Given the description of an element on the screen output the (x, y) to click on. 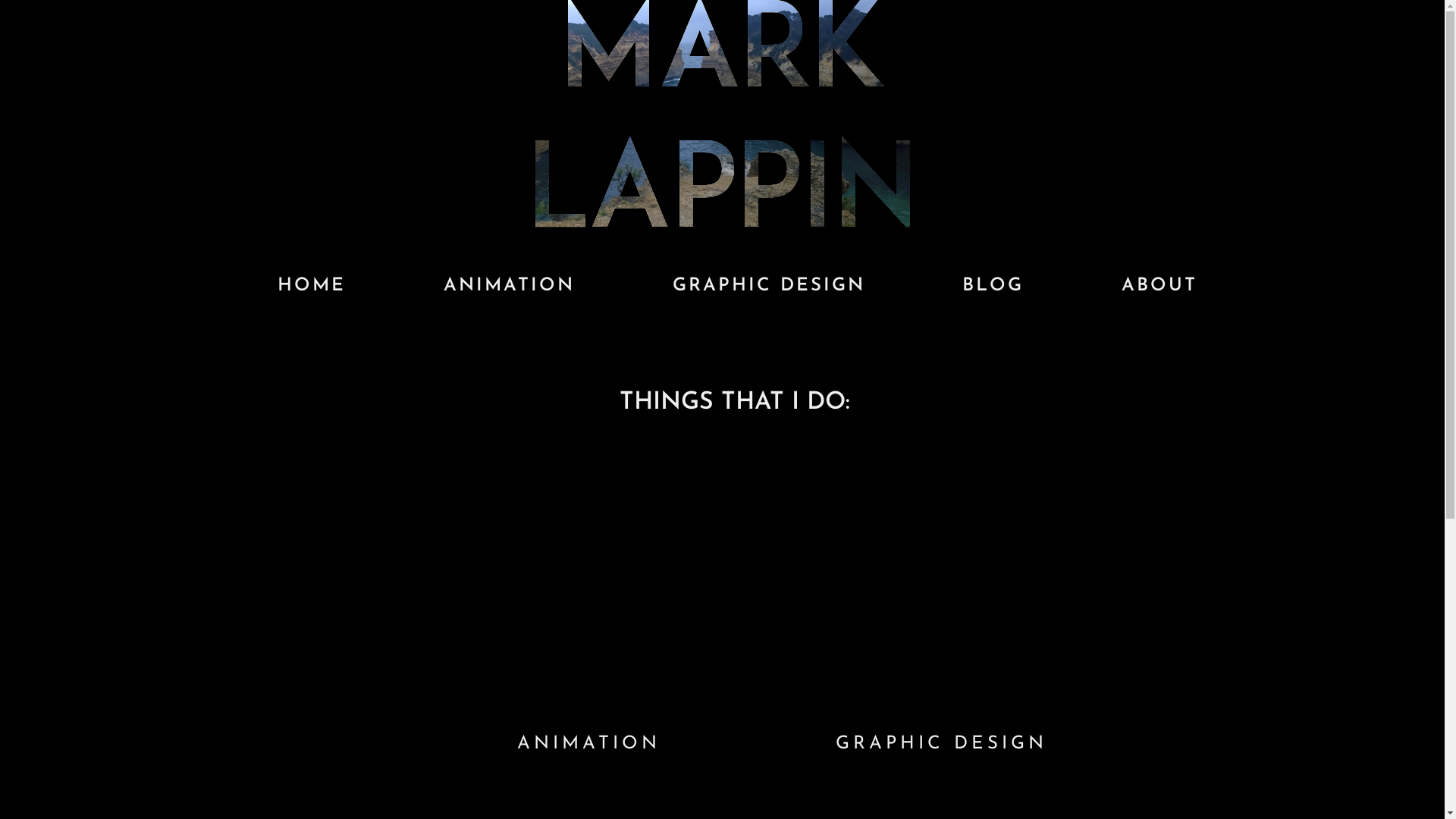
ANIMATION Element type: text (587, 727)
BLOG Element type: text (992, 285)
HOME Element type: text (311, 285)
ABOUT Element type: text (1159, 285)
GRAPHIC DESIGN Element type: text (767, 285)
ANIMATION Element type: text (509, 285)
GRAPHIC DESIGN Element type: text (941, 727)
